Given the description of an element on the screen output the (x, y) to click on. 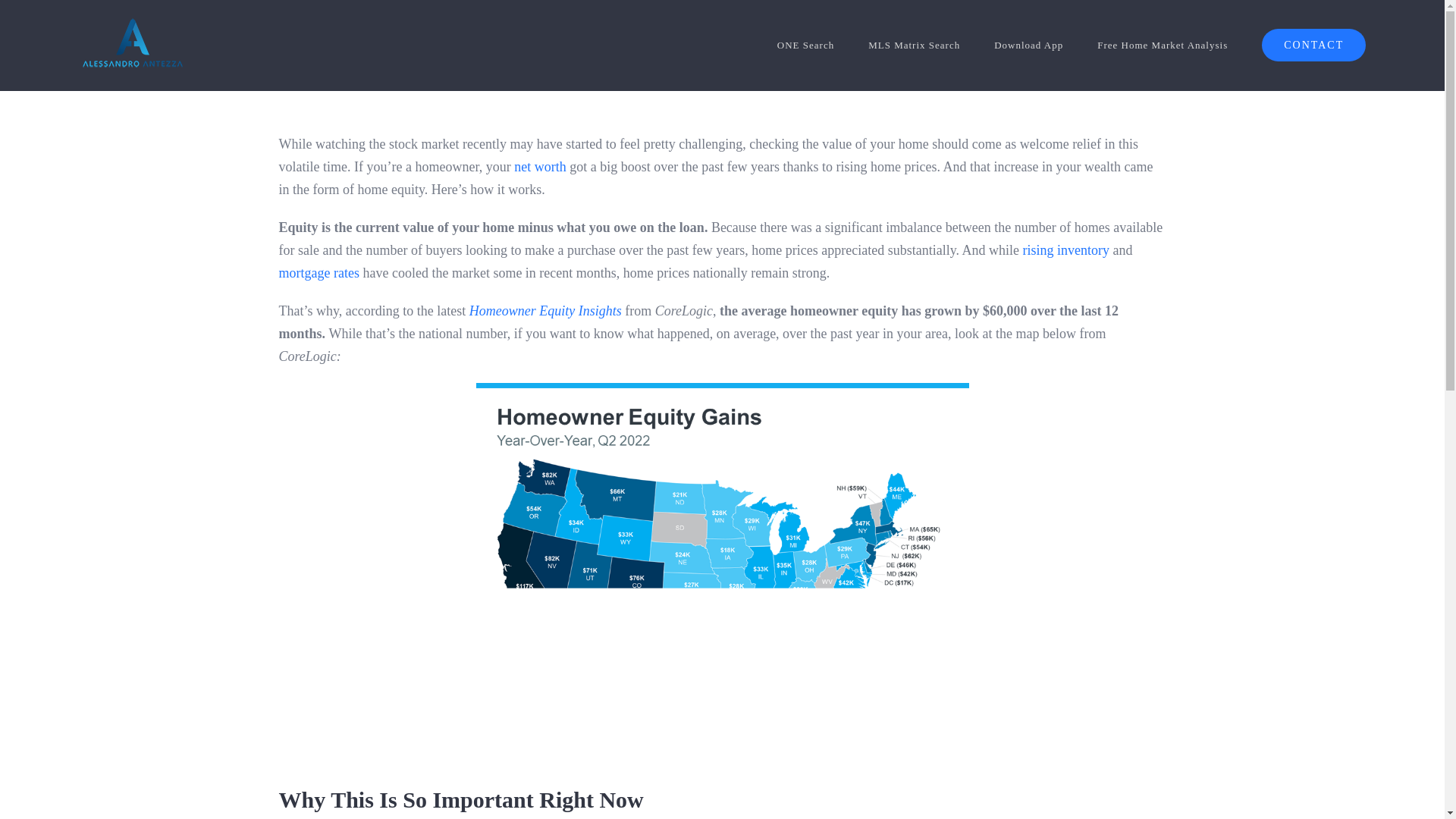
ONE Search (805, 44)
rising inventory (1066, 249)
CONTACT (1313, 44)
Download App (1028, 44)
mortgage rates (319, 272)
Homeowner Equity Insights (544, 310)
MLS Matrix Search (913, 44)
Free Home Market Analysis (1162, 44)
net worth (539, 166)
